Given the description of an element on the screen output the (x, y) to click on. 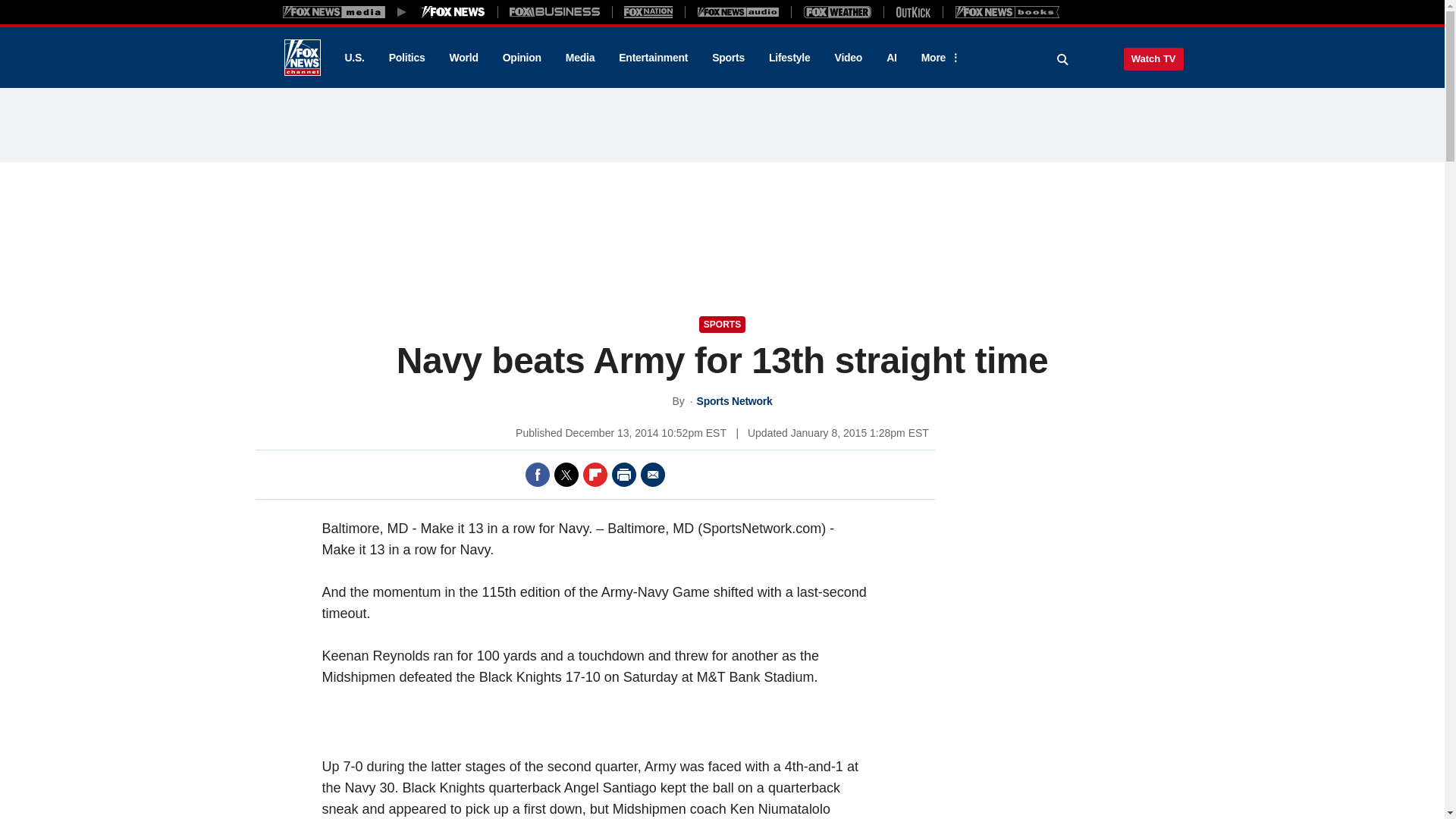
Fox Weather (836, 11)
Sports (728, 57)
Fox Business (554, 11)
World (464, 57)
Fox News (301, 57)
Opinion (521, 57)
Politics (407, 57)
More (938, 57)
Lifestyle (789, 57)
Entertainment (653, 57)
Books (1007, 11)
Fox News Audio (737, 11)
Outkick (912, 11)
Watch TV (1153, 58)
AI (891, 57)
